Given the description of an element on the screen output the (x, y) to click on. 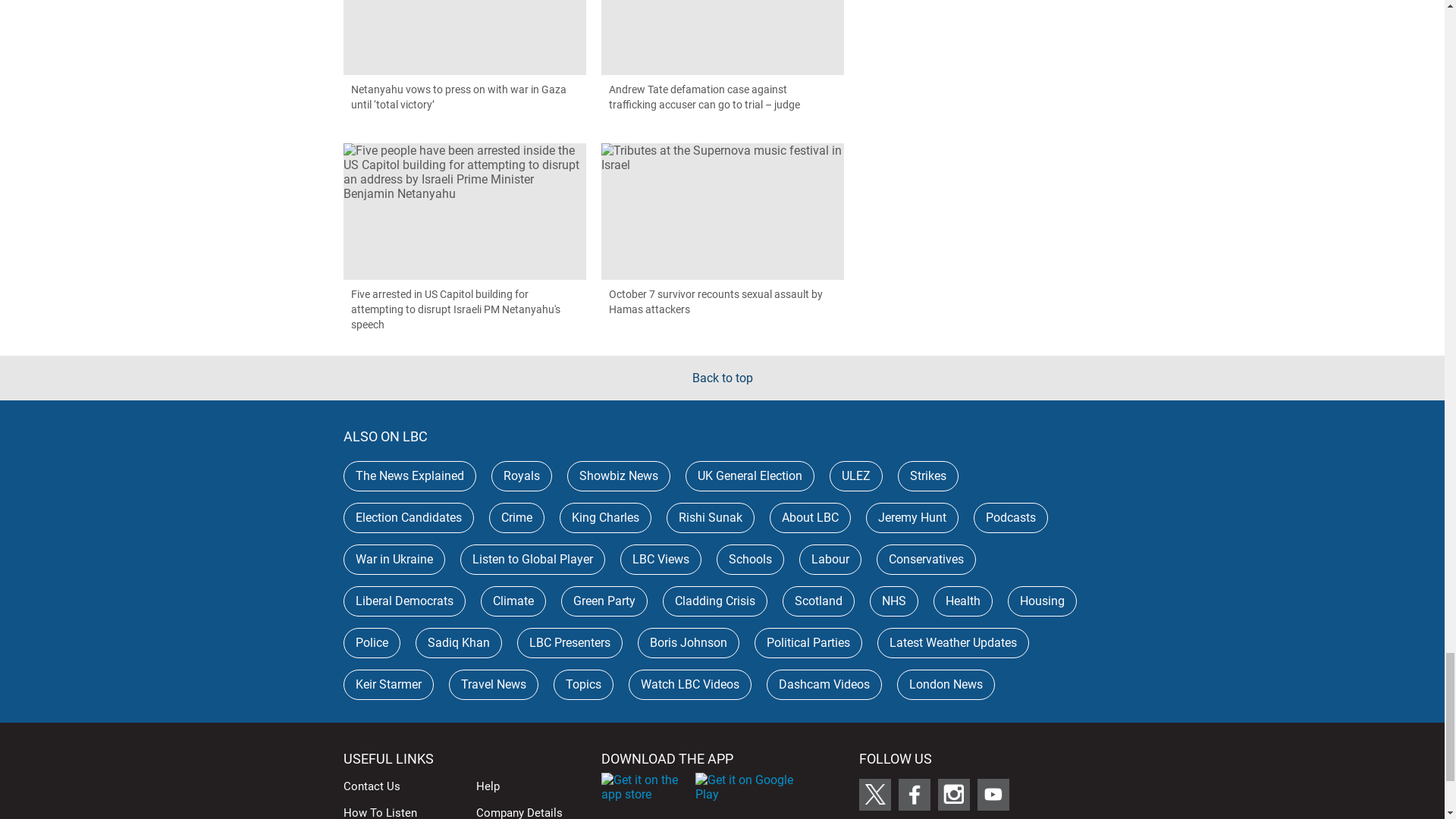
Follow LBC on Facebook (914, 794)
Back to top (721, 377)
Follow LBC on Youtube (992, 794)
Follow LBC on Instagram (953, 794)
Follow LBC on X (874, 794)
